Given the description of an element on the screen output the (x, y) to click on. 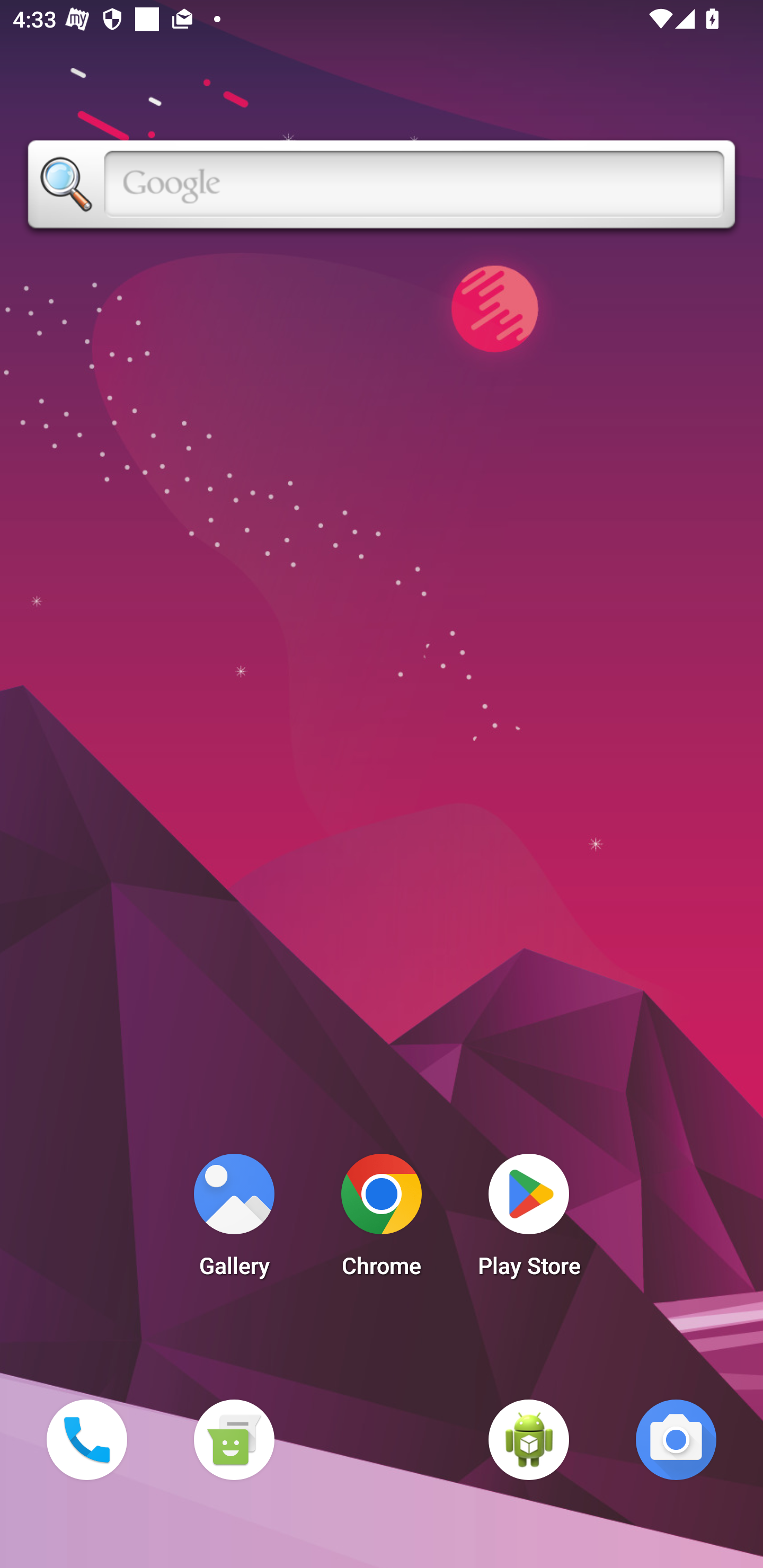
Gallery (233, 1220)
Chrome (381, 1220)
Play Store (528, 1220)
Phone (86, 1439)
Messaging (233, 1439)
WebView Browser Tester (528, 1439)
Camera (676, 1439)
